Given the description of an element on the screen output the (x, y) to click on. 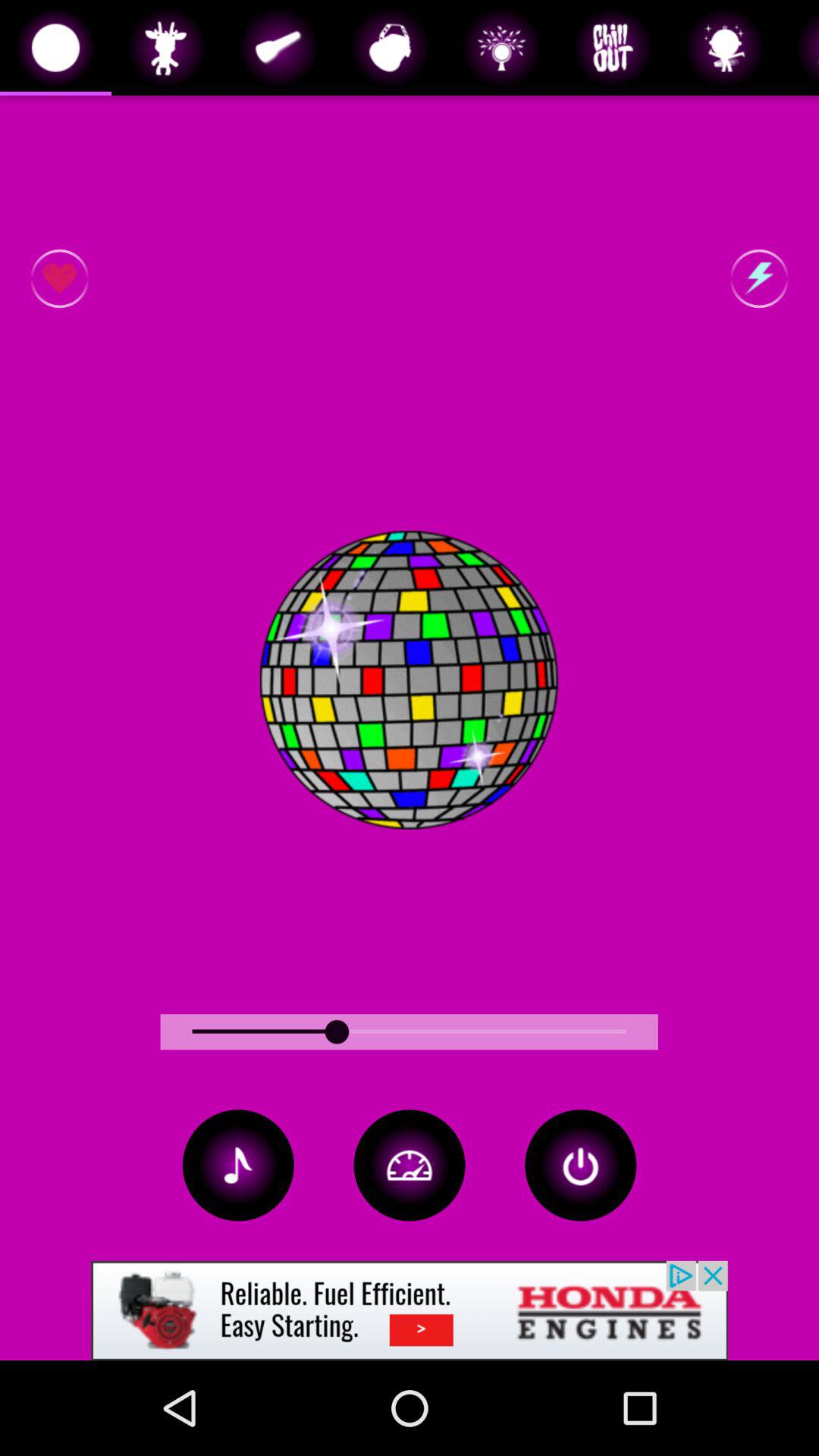
advertisements image (409, 1310)
